Given the description of an element on the screen output the (x, y) to click on. 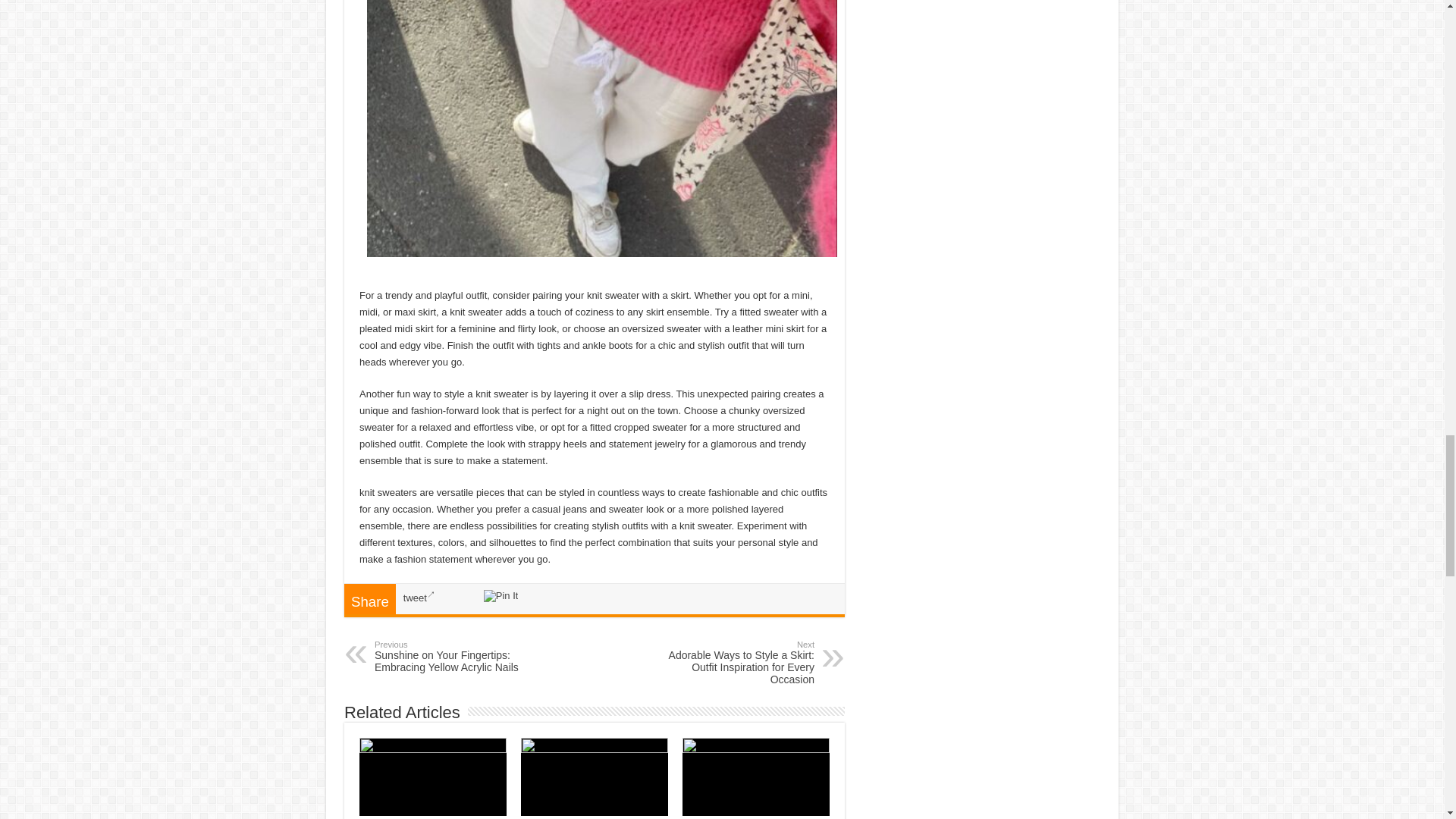
Pin It (500, 595)
tweet (419, 597)
